Given the description of an element on the screen output the (x, y) to click on. 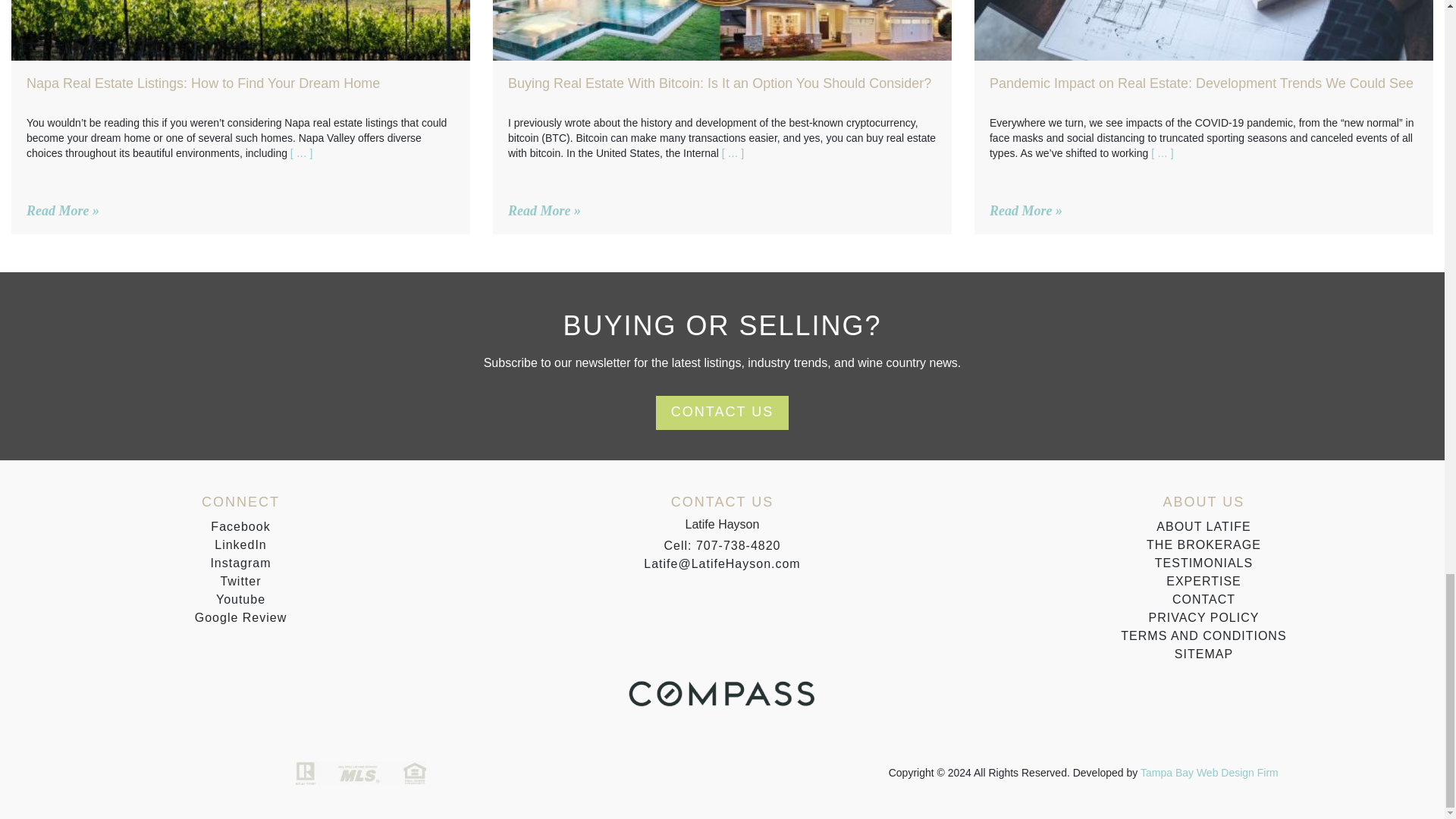
Pandemic Impact on Real Estate (1203, 29)
Real estate listings Napa (240, 29)
Real Estate Bitcoin (722, 29)
